Given the description of an element on the screen output the (x, y) to click on. 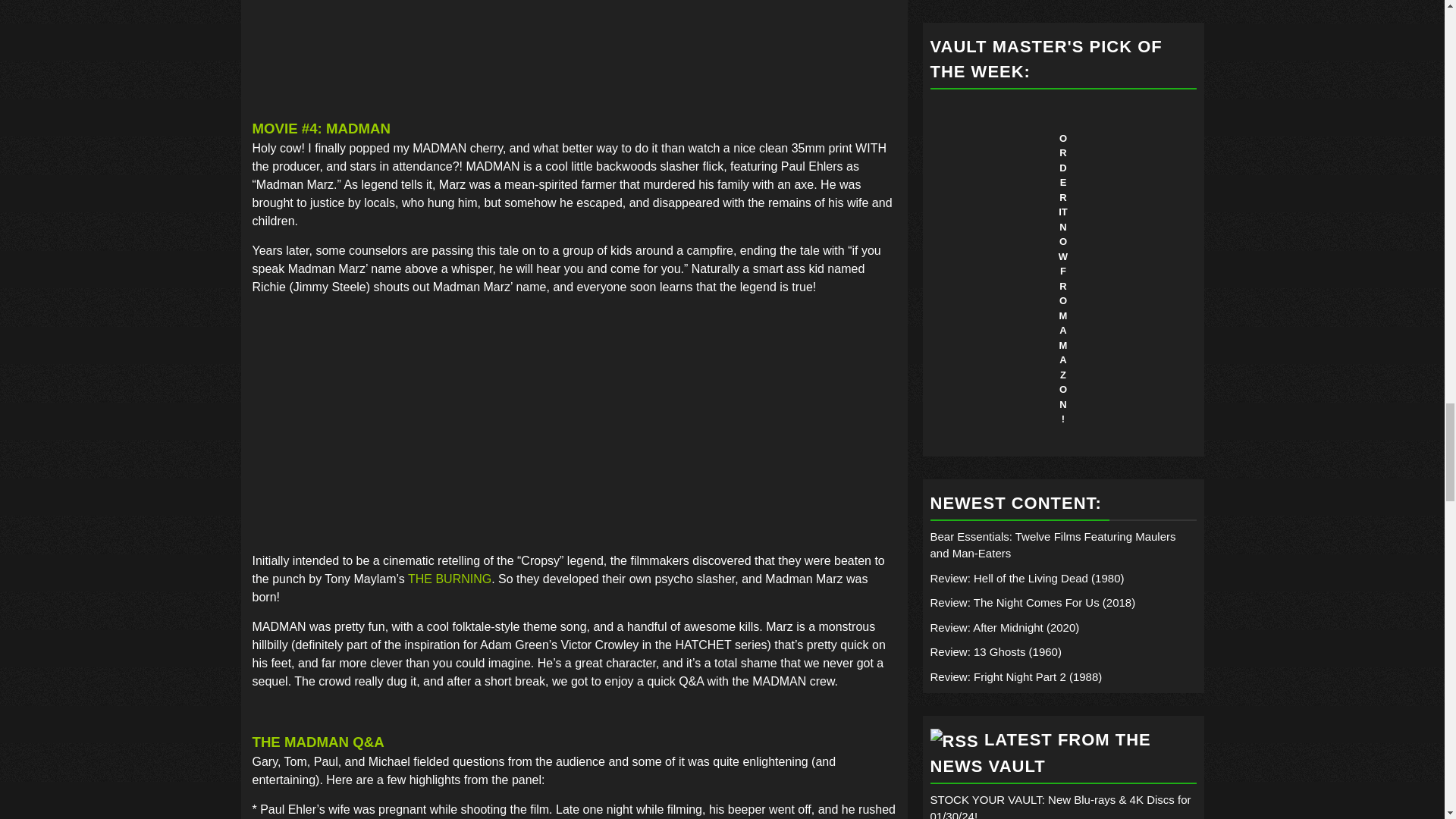
THE BURNING (449, 578)
